Given the description of an element on the screen output the (x, y) to click on. 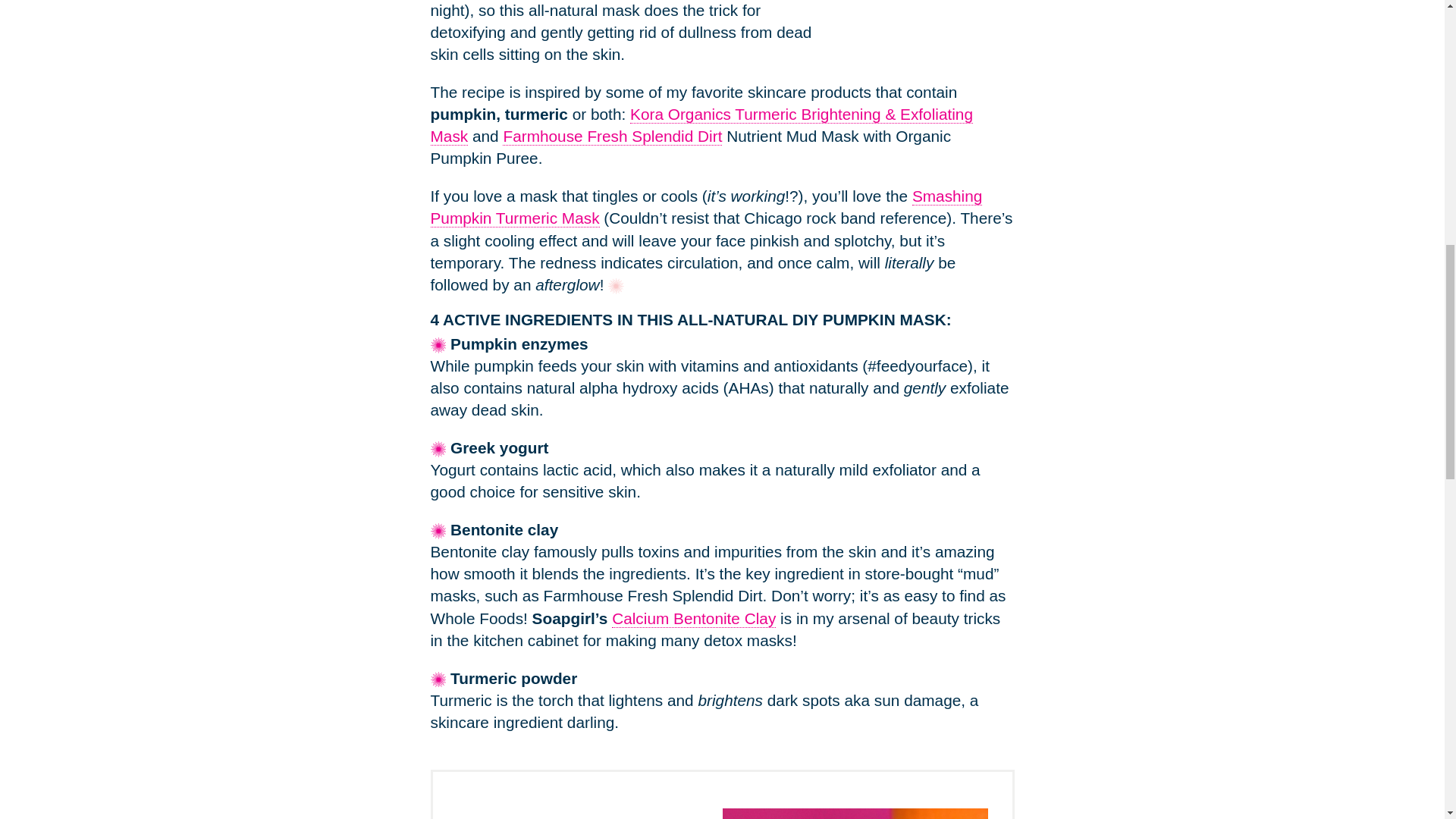
Farmhouse Fresh Splendid Dirt (612, 136)
Smashing Pumpkin Turmeric Mask (706, 207)
Calcium Bentonite Clay (693, 618)
